Given the description of an element on the screen output the (x, y) to click on. 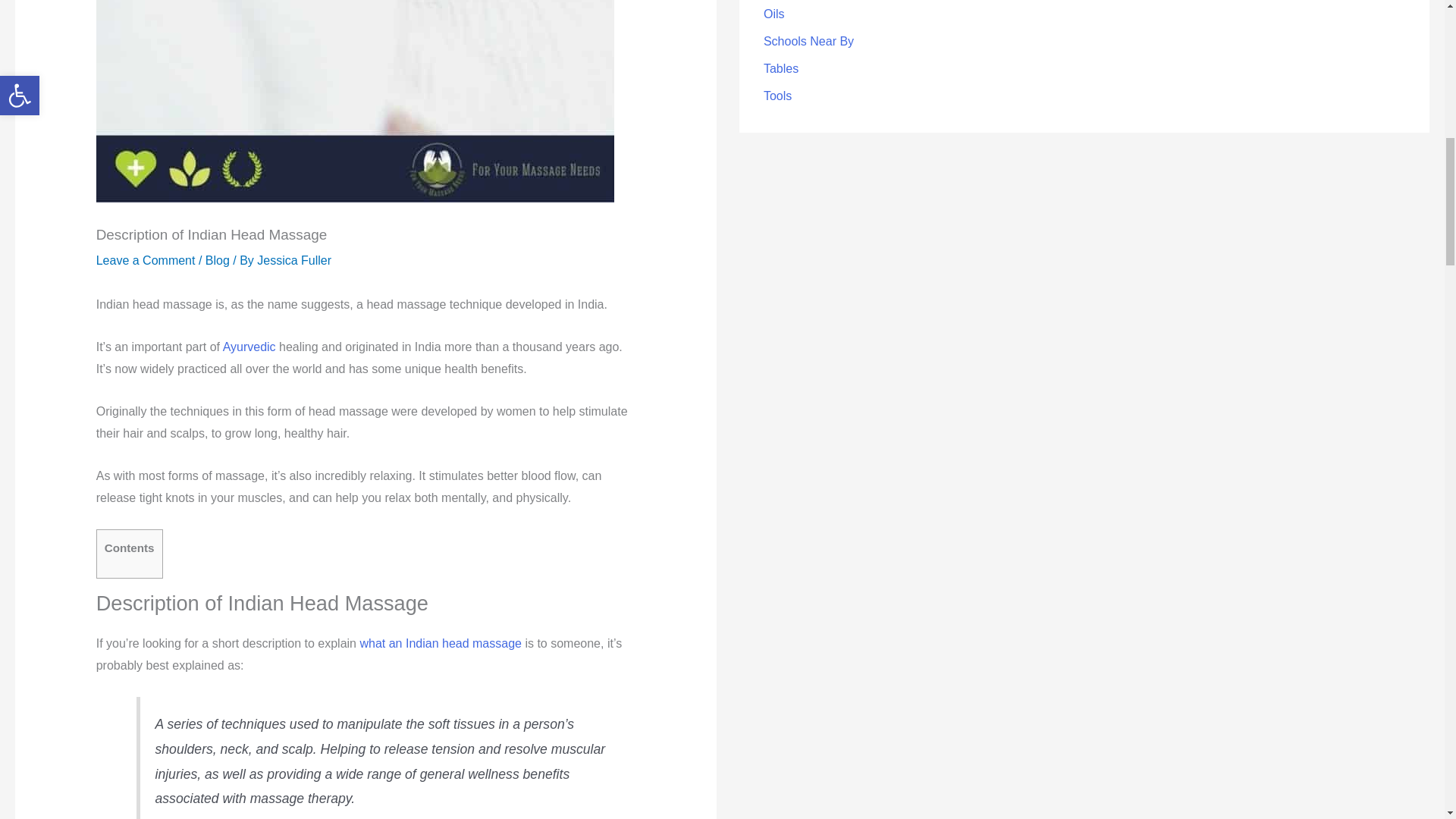
Jessica Fuller (294, 259)
Ayurvedic (249, 346)
Blog (217, 259)
View all posts by Jessica Fuller (294, 259)
what an Indian head massage (440, 643)
Leave a Comment (145, 259)
